Given the description of an element on the screen output the (x, y) to click on. 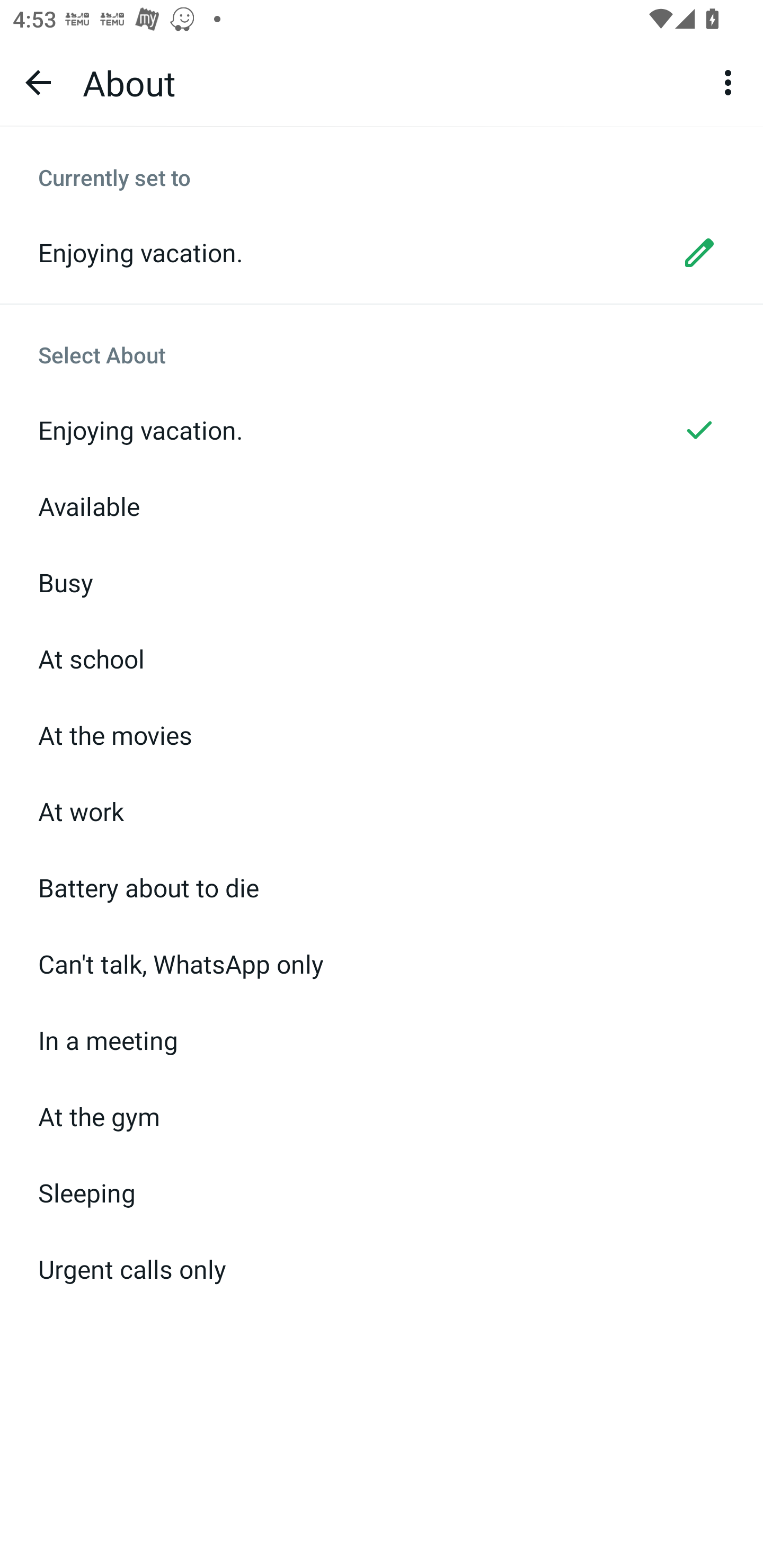
Navigate up (38, 82)
More options (731, 81)
Enjoying vacation. edit (381, 252)
Enjoying vacation. Selected (381, 430)
Available (381, 506)
Busy (381, 582)
At school (381, 658)
At the movies (381, 735)
At work (381, 811)
Battery about to die (381, 887)
Can't talk, WhatsApp only (381, 963)
In a meeting (381, 1039)
At the gym (381, 1116)
Sleeping (381, 1192)
Urgent calls only (381, 1268)
